Given the description of an element on the screen output the (x, y) to click on. 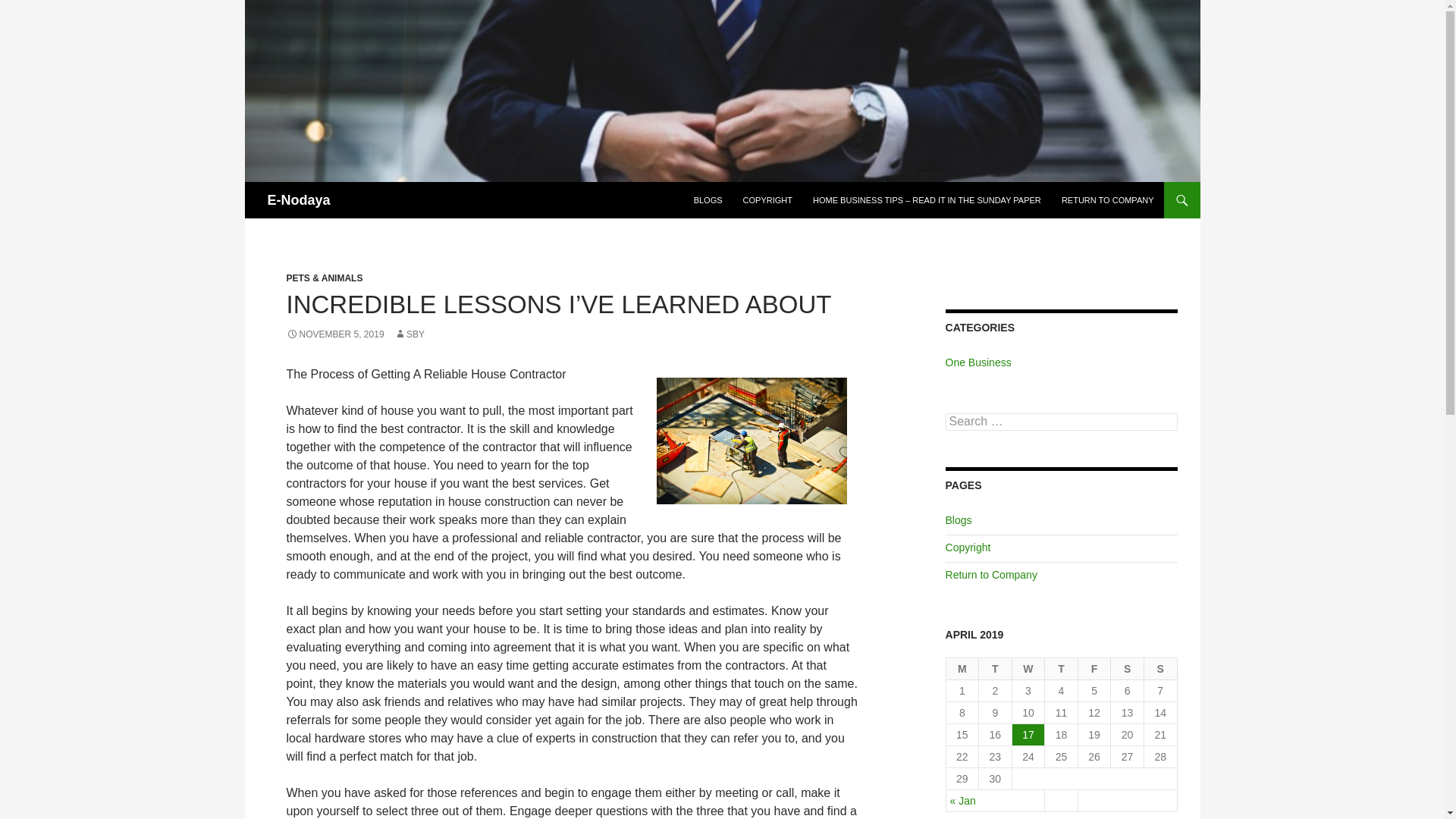
Wednesday (1028, 669)
BLOGS (708, 199)
Copyright (967, 547)
Monday (962, 669)
Search (30, 8)
Tuesday (994, 669)
Sunday (1160, 669)
Thursday (1061, 669)
COPYRIGHT (767, 199)
Friday (1095, 669)
SBY (409, 334)
RETURN TO COMPANY (1107, 199)
One Business (977, 362)
Blogs (958, 520)
